Given the description of an element on the screen output the (x, y) to click on. 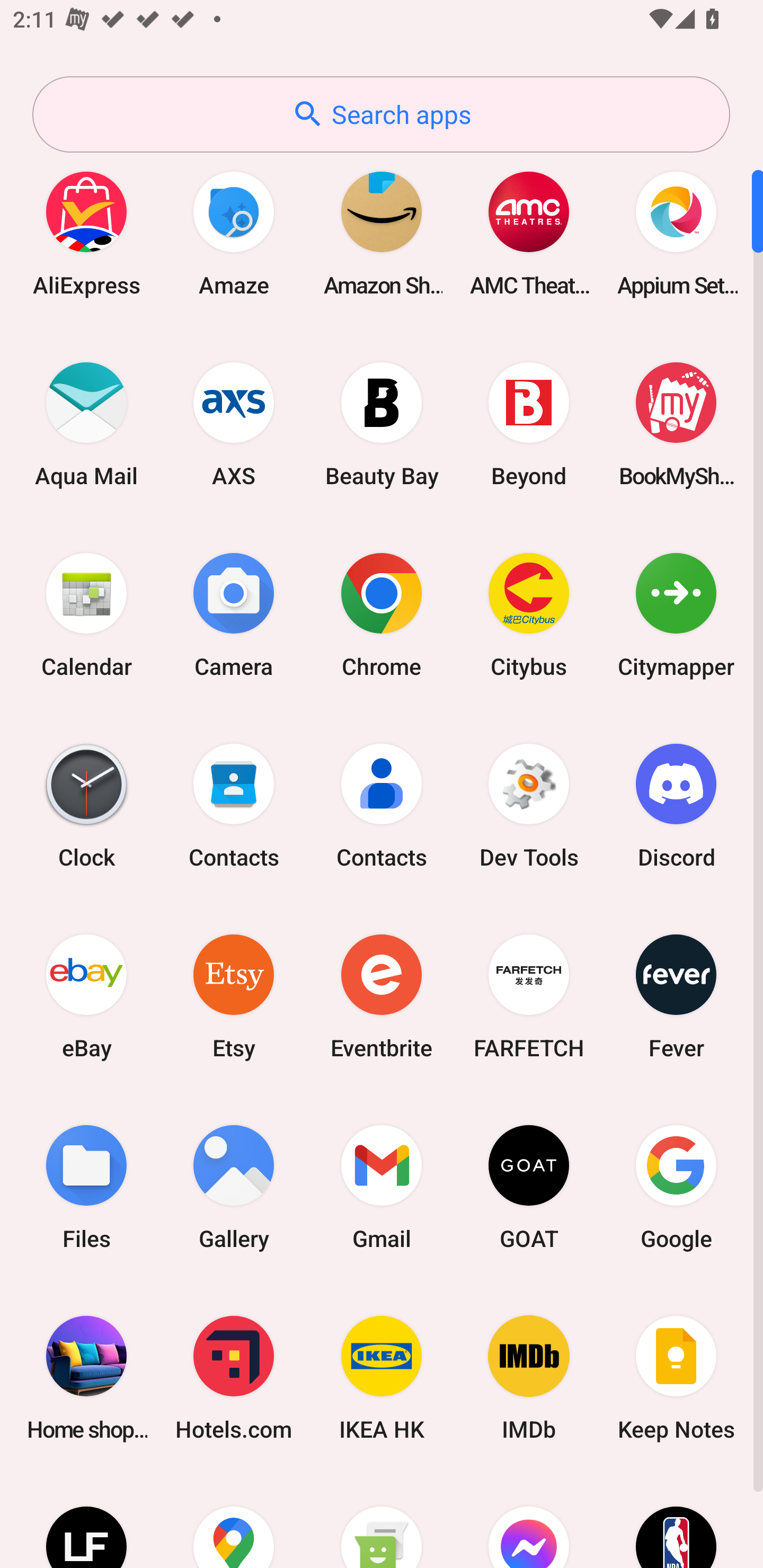
Citymapper (676, 614)
